Given the description of an element on the screen output the (x, y) to click on. 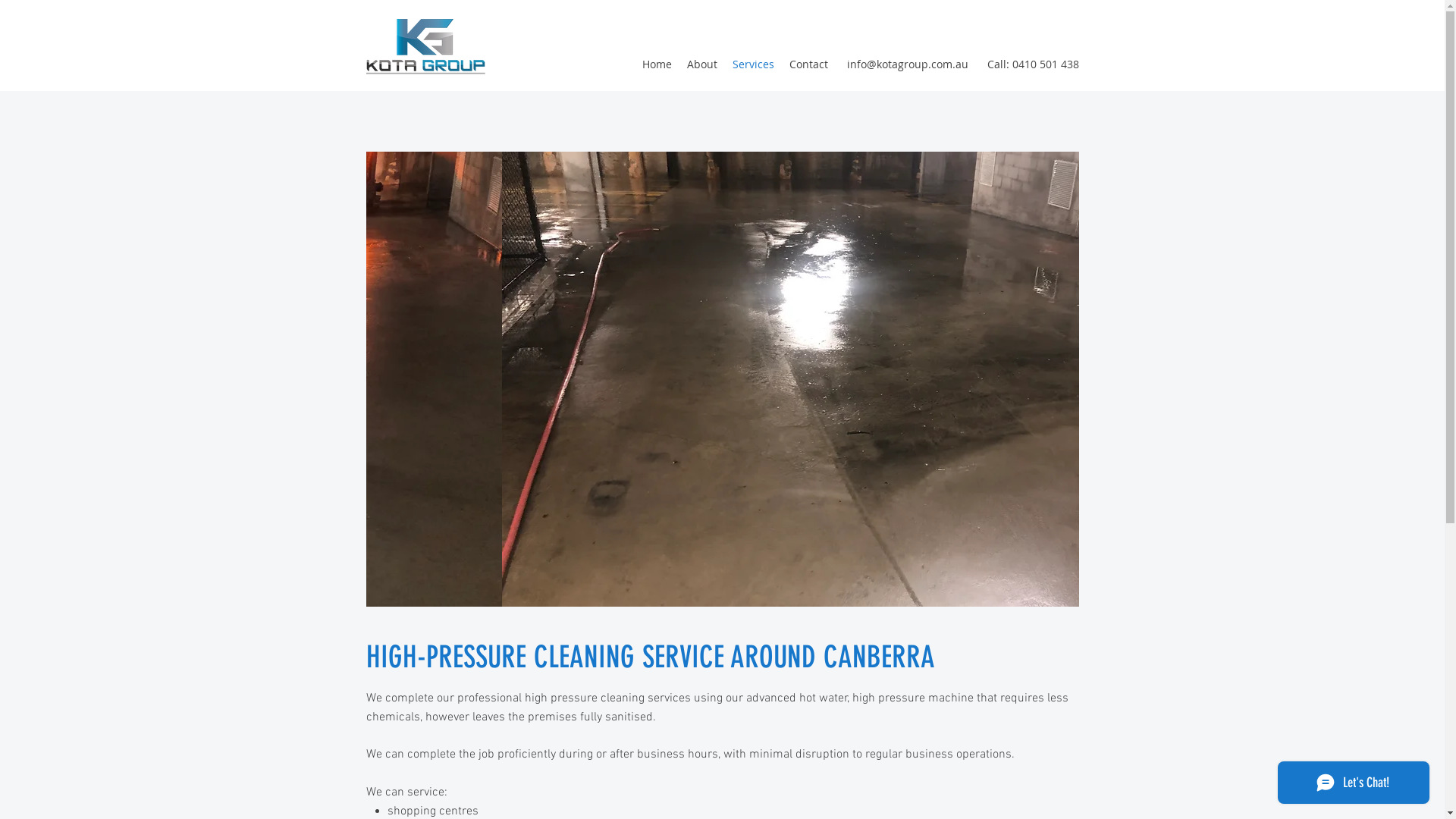
Services Element type: text (752, 64)
info@kotagroup.com.au Element type: text (906, 63)
About Element type: text (701, 64)
Home Element type: text (655, 64)
Contact Element type: text (807, 64)
